Given the description of an element on the screen output the (x, y) to click on. 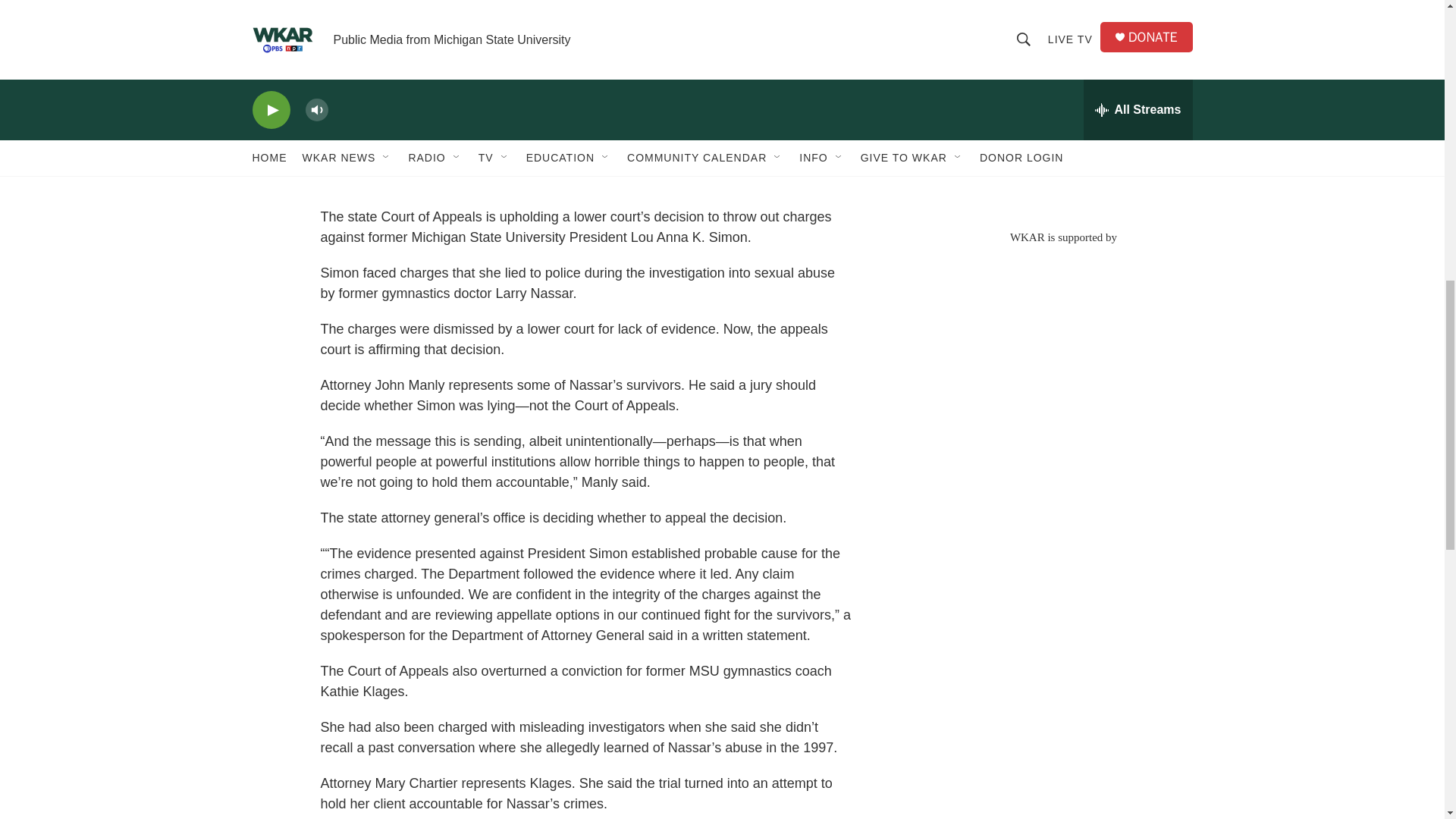
3rd party ad content (1062, 105)
3rd party ad content (1062, 353)
